Given the description of an element on the screen output the (x, y) to click on. 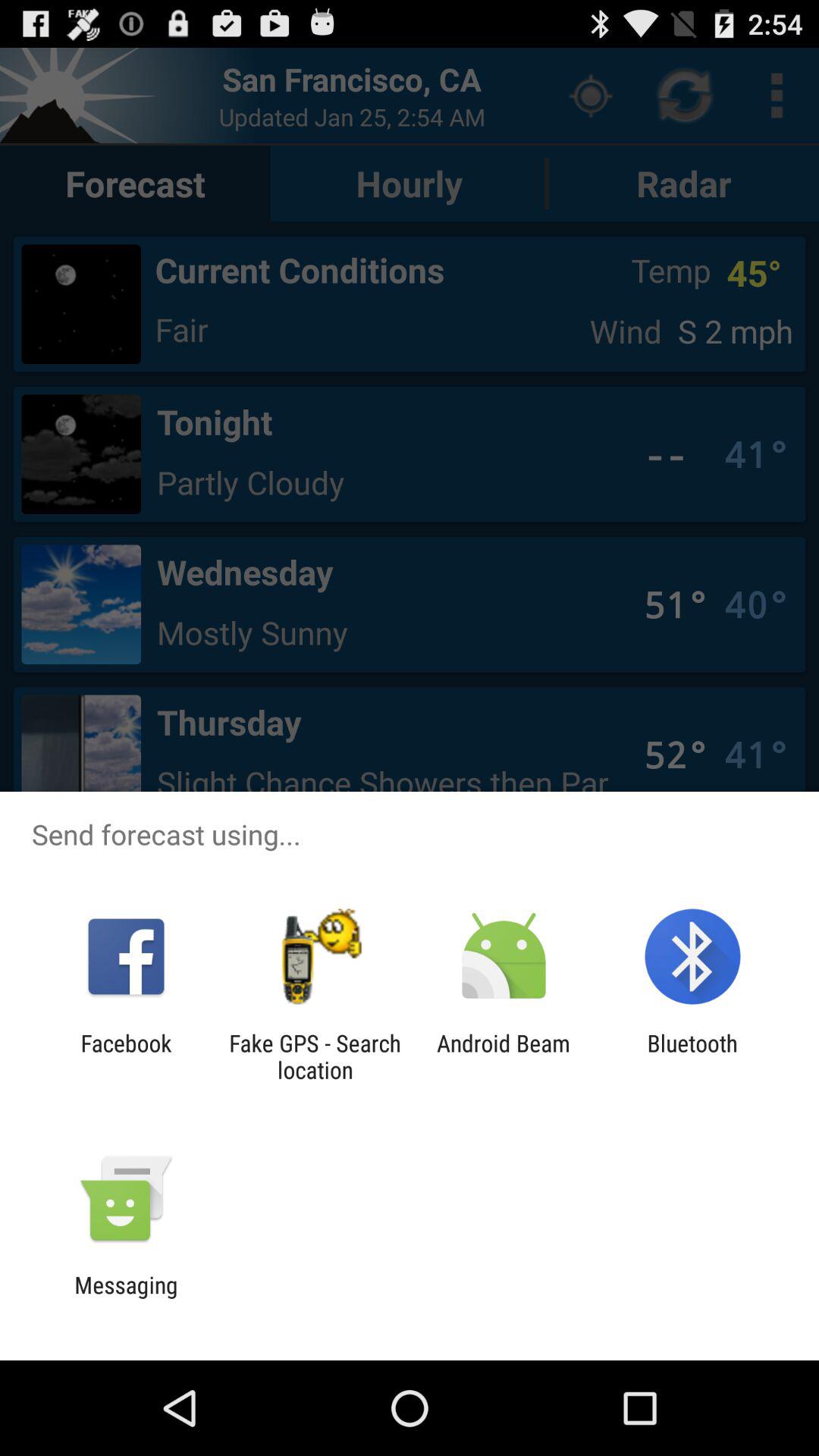
swipe until bluetooth app (692, 1056)
